Given the description of an element on the screen output the (x, y) to click on. 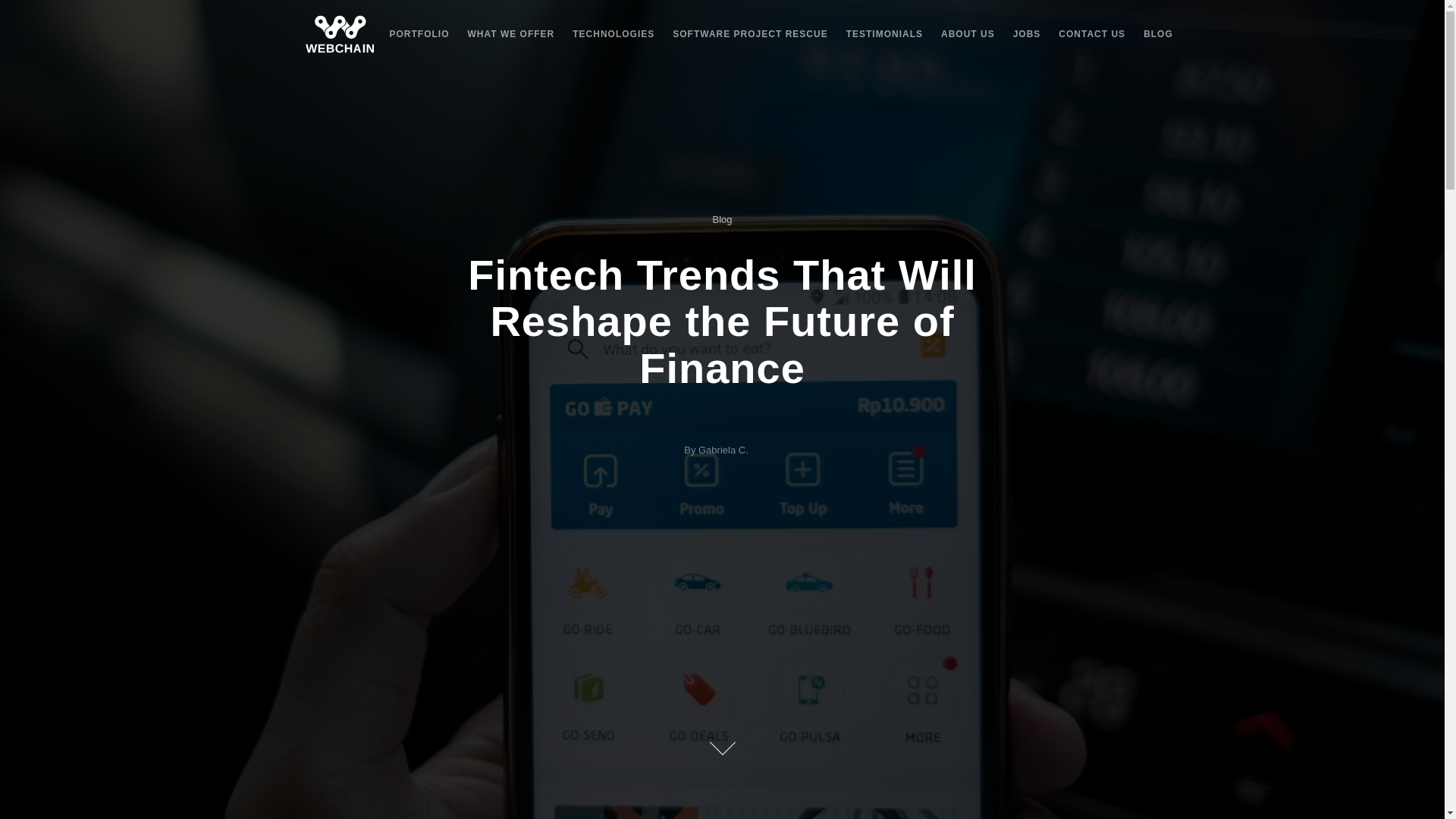
WHAT WE OFFER (510, 33)
TECHNOLOGIES (612, 33)
TESTIMONIALS (884, 33)
Blog (722, 219)
SOFTWARE PROJECT RESCUE (749, 33)
CONTACT US (1091, 33)
